Given the description of an element on the screen output the (x, y) to click on. 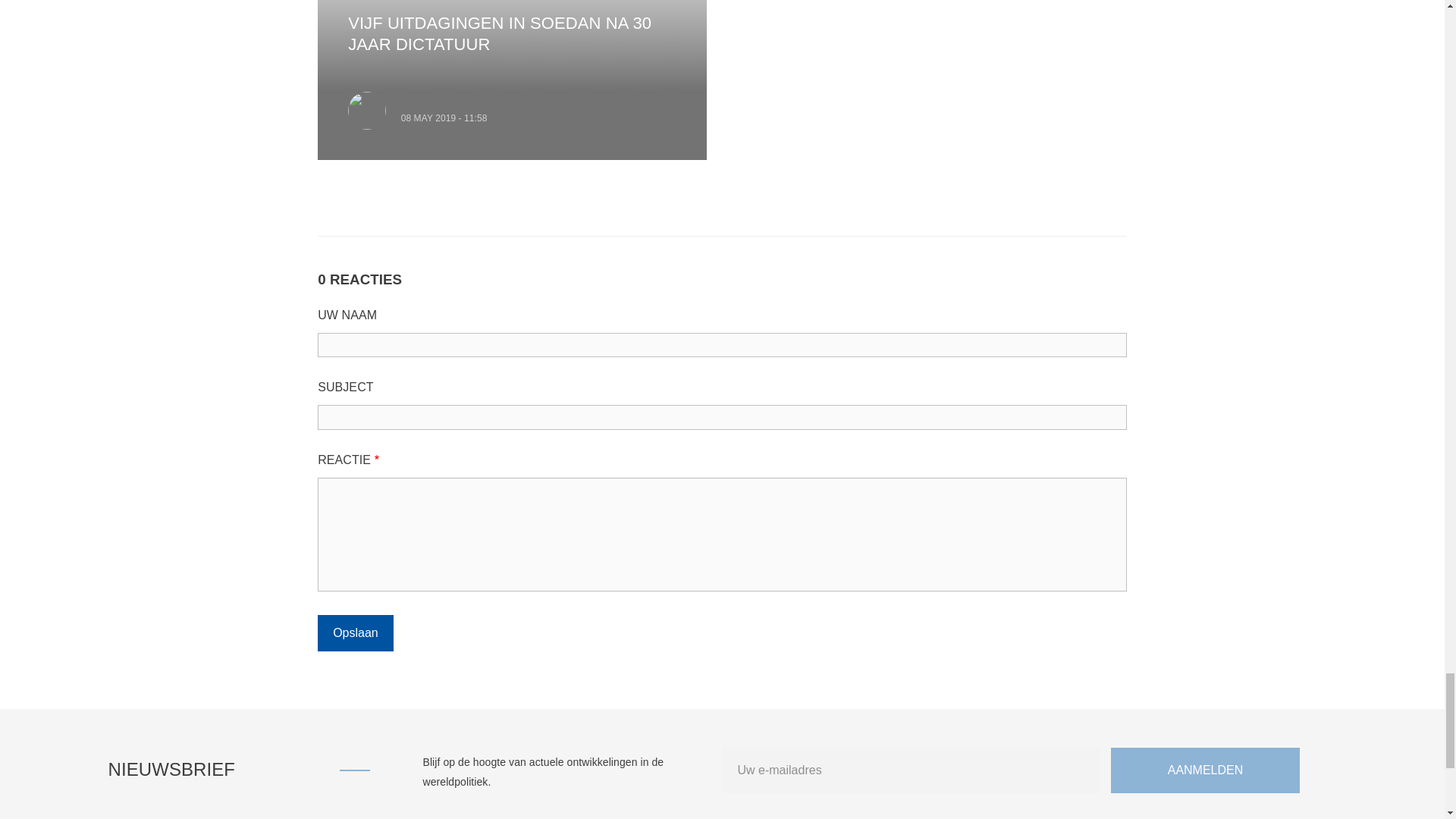
Aanmelden (1205, 770)
Opslaan (355, 633)
